Given the description of an element on the screen output the (x, y) to click on. 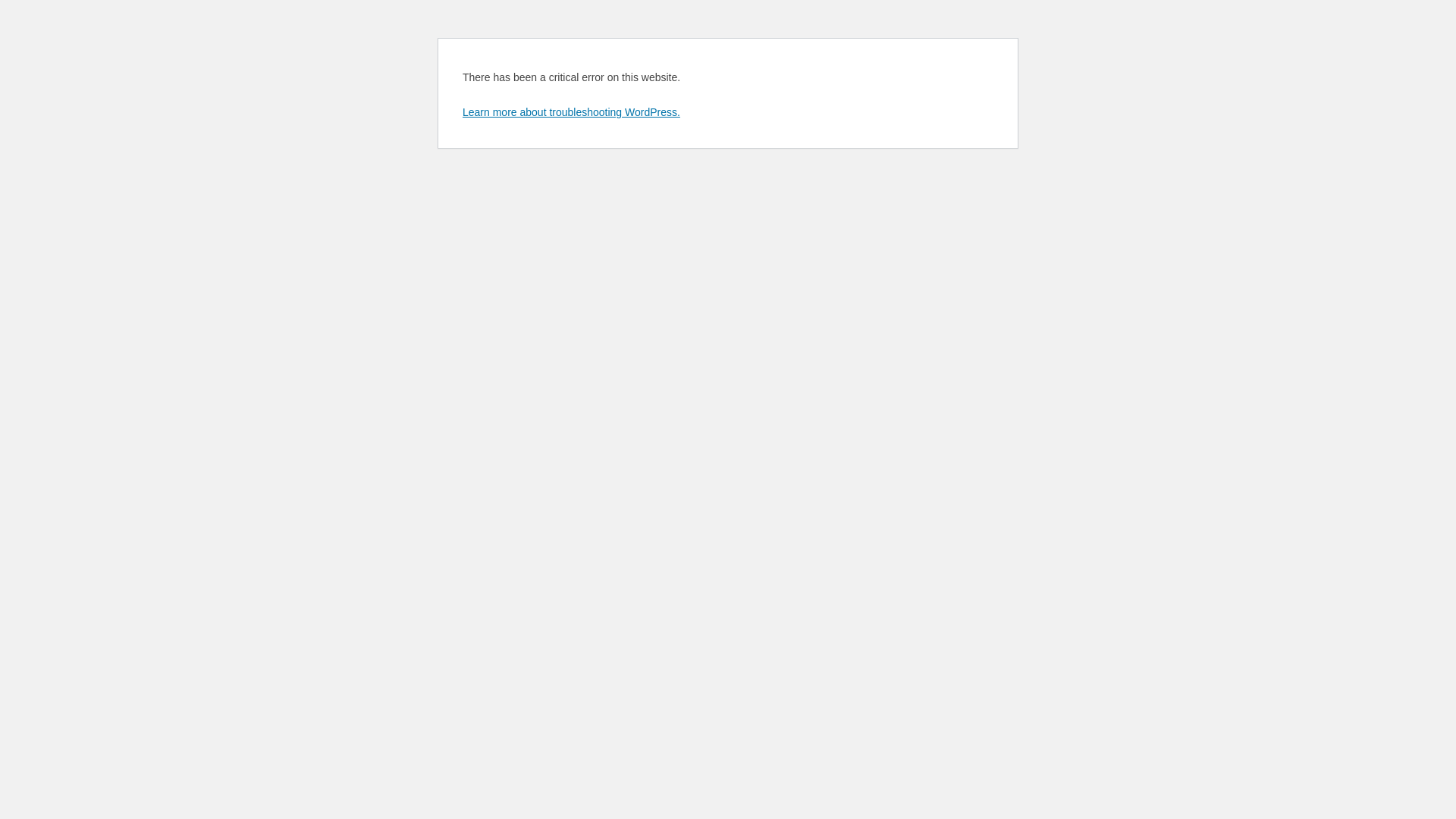
Learn more about troubleshooting WordPress. Element type: text (571, 112)
